Given the description of an element on the screen output the (x, y) to click on. 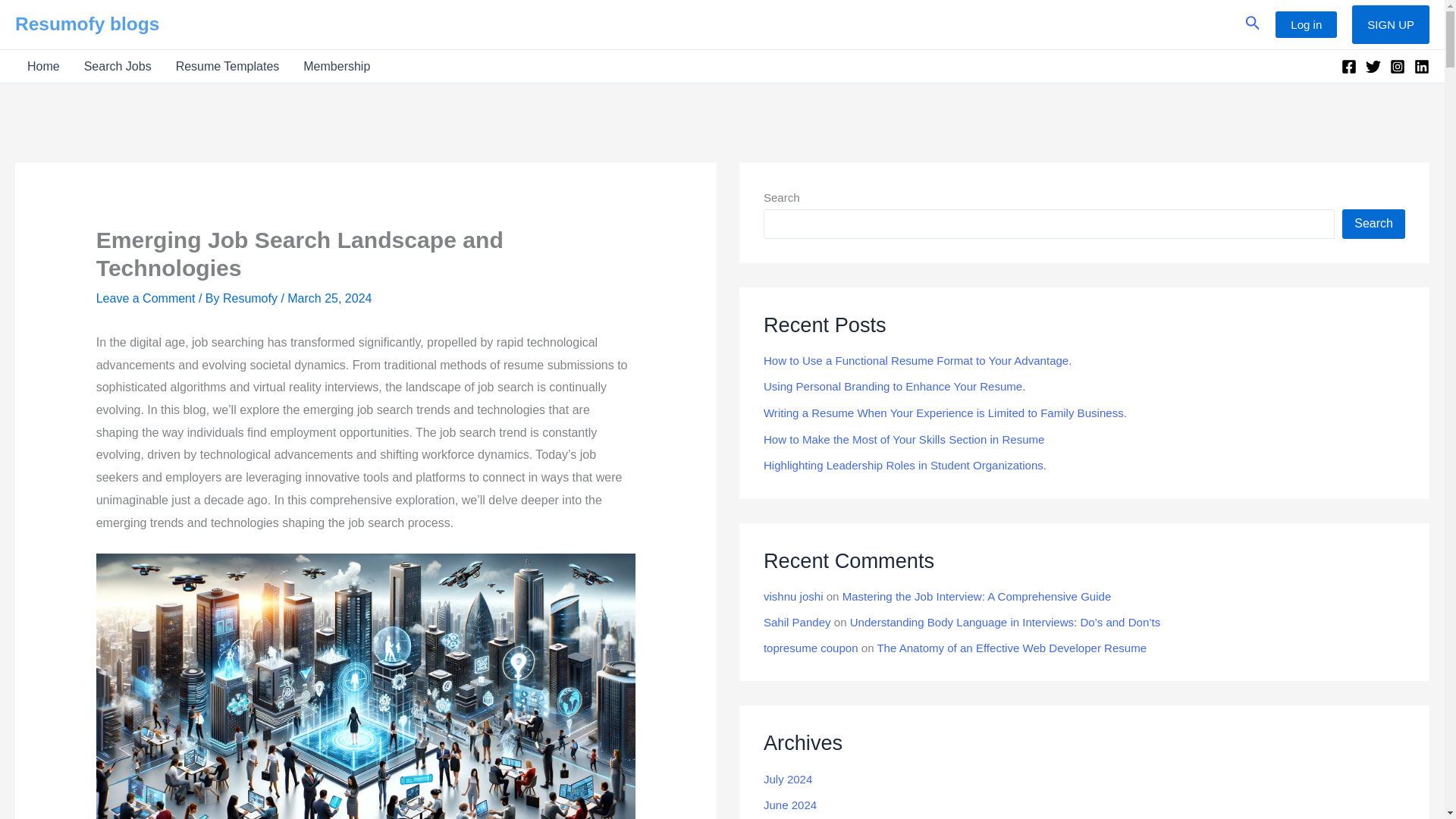
View all posts by Resumofy (251, 297)
Membership (336, 65)
Search Jobs (117, 65)
Search Jobs (117, 65)
Resume Templates (227, 65)
Resume Templates (227, 65)
Leave a Comment (145, 297)
Membership (336, 65)
Resumofy Home (42, 65)
Home (42, 65)
Resumofy blogs (86, 23)
SIGN UP (1390, 24)
Log in (1305, 24)
Resumofy (251, 297)
